Given the description of an element on the screen output the (x, y) to click on. 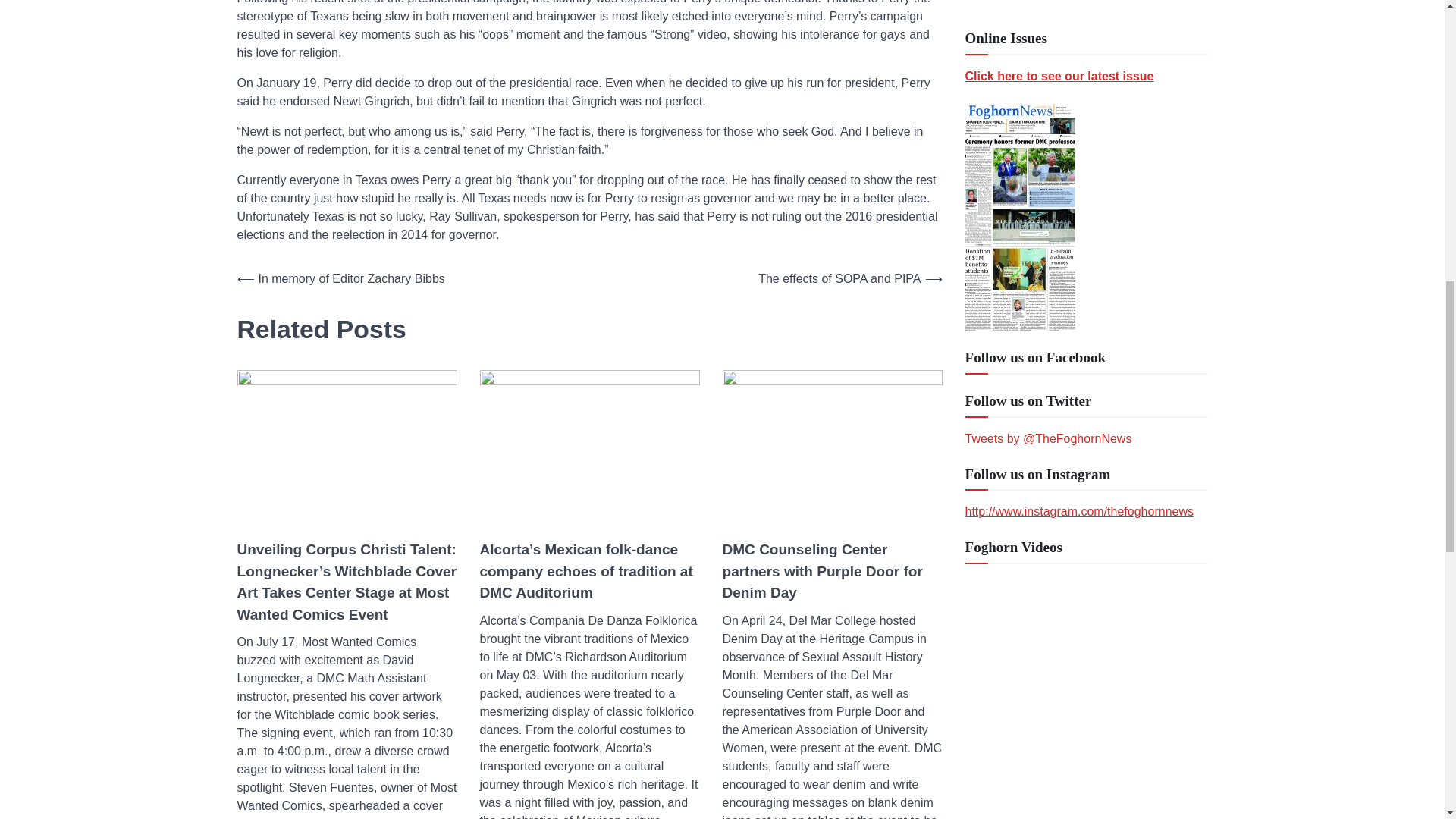
Send (988, 760)
Send (988, 760)
